Given the description of an element on the screen output the (x, y) to click on. 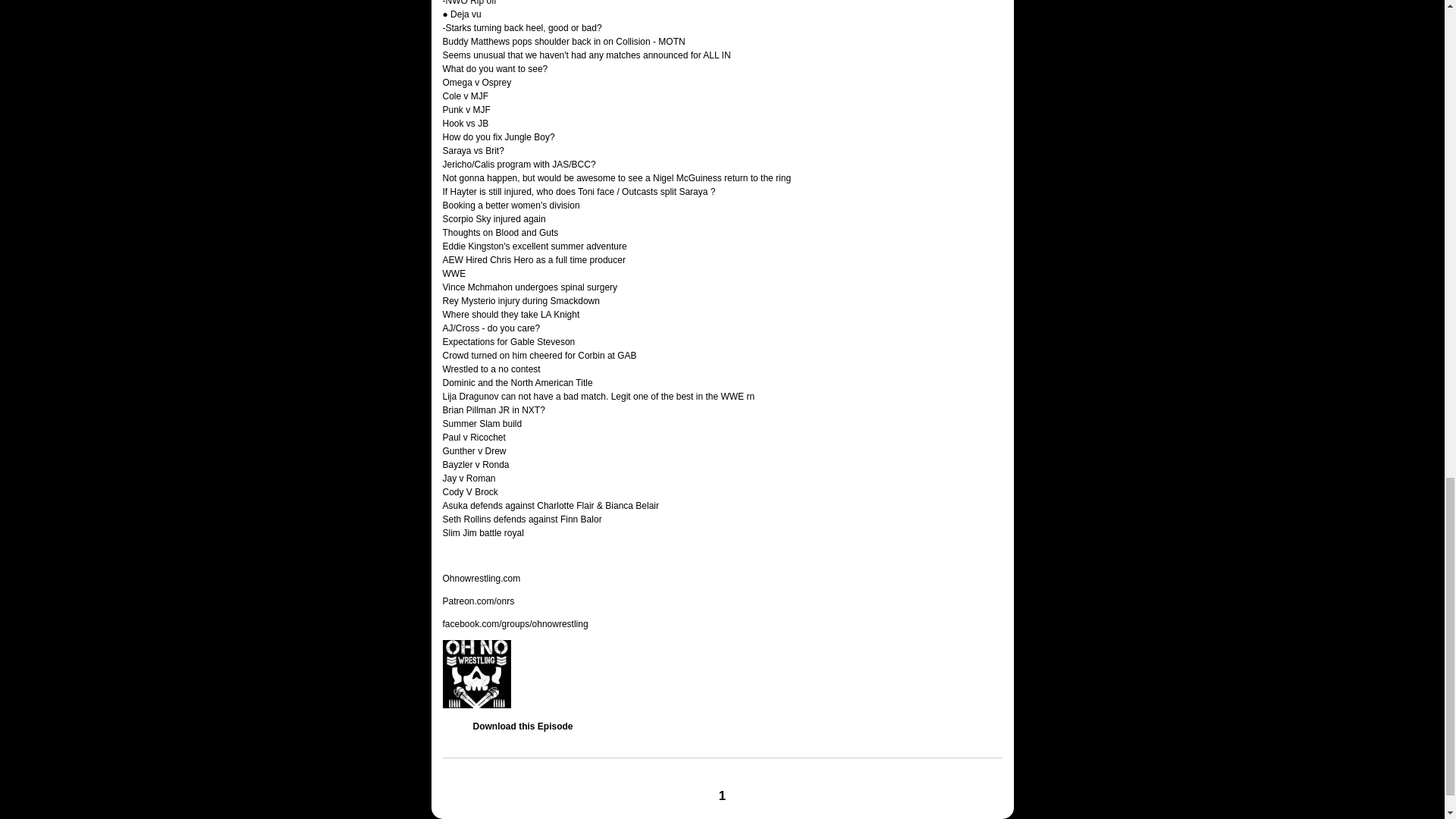
Libsyn Player (722, 673)
